Given the description of an element on the screen output the (x, y) to click on. 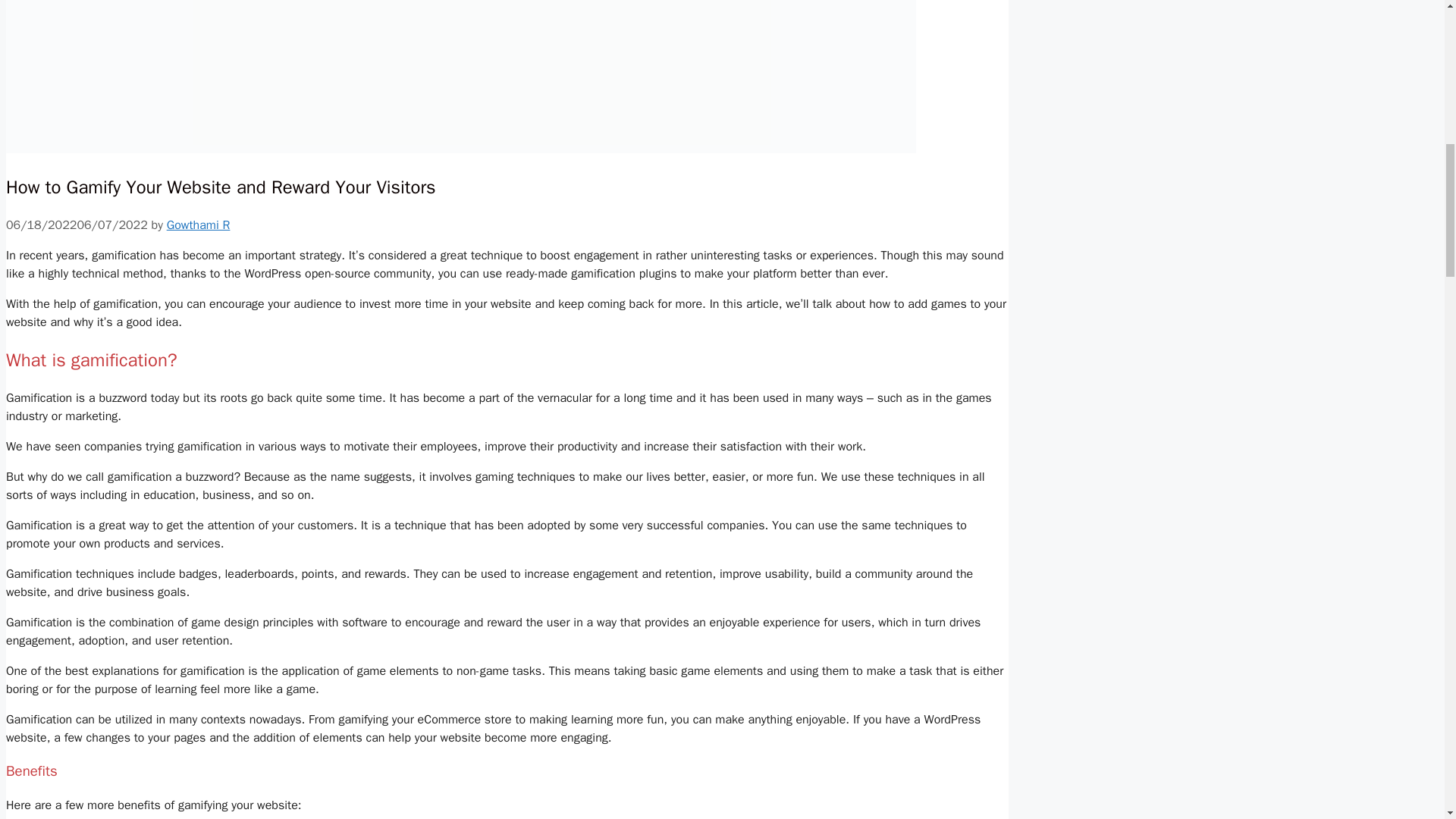
Scroll back to top (1406, 720)
View all posts by Gowthami R (198, 224)
Gowthami R (198, 224)
